Given the description of an element on the screen output the (x, y) to click on. 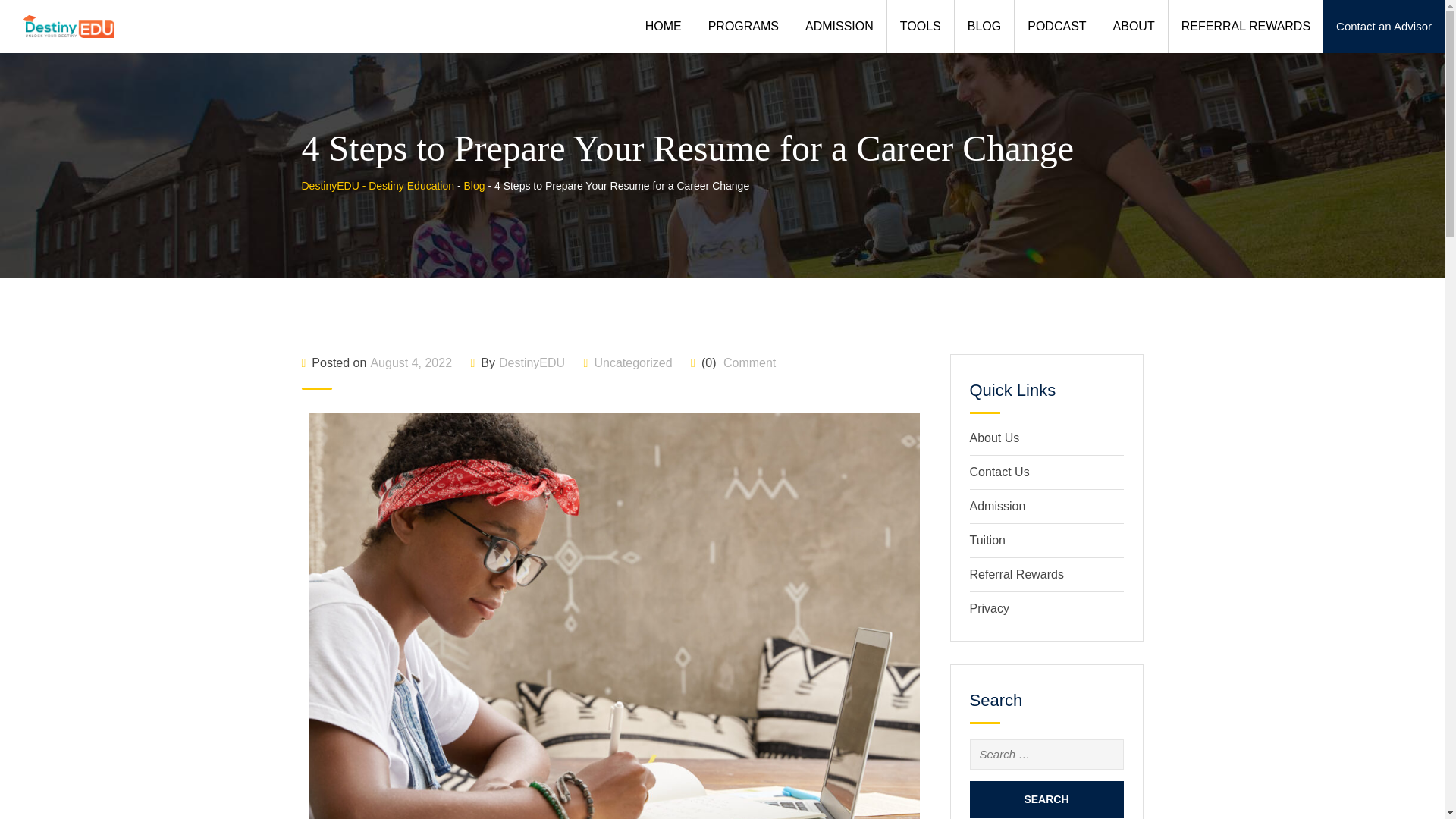
Admission (997, 505)
Blog (473, 185)
Privacy (989, 608)
Search (1045, 799)
Tuition (986, 540)
Search (1045, 799)
HOME (662, 26)
Search (1045, 799)
ADMISSION (839, 26)
Posts by DestinyEDU (531, 362)
PODCAST (1056, 26)
BLOG (983, 26)
TOOLS (919, 26)
DestinyEDU (531, 362)
Go to Blog. (473, 185)
